Given the description of an element on the screen output the (x, y) to click on. 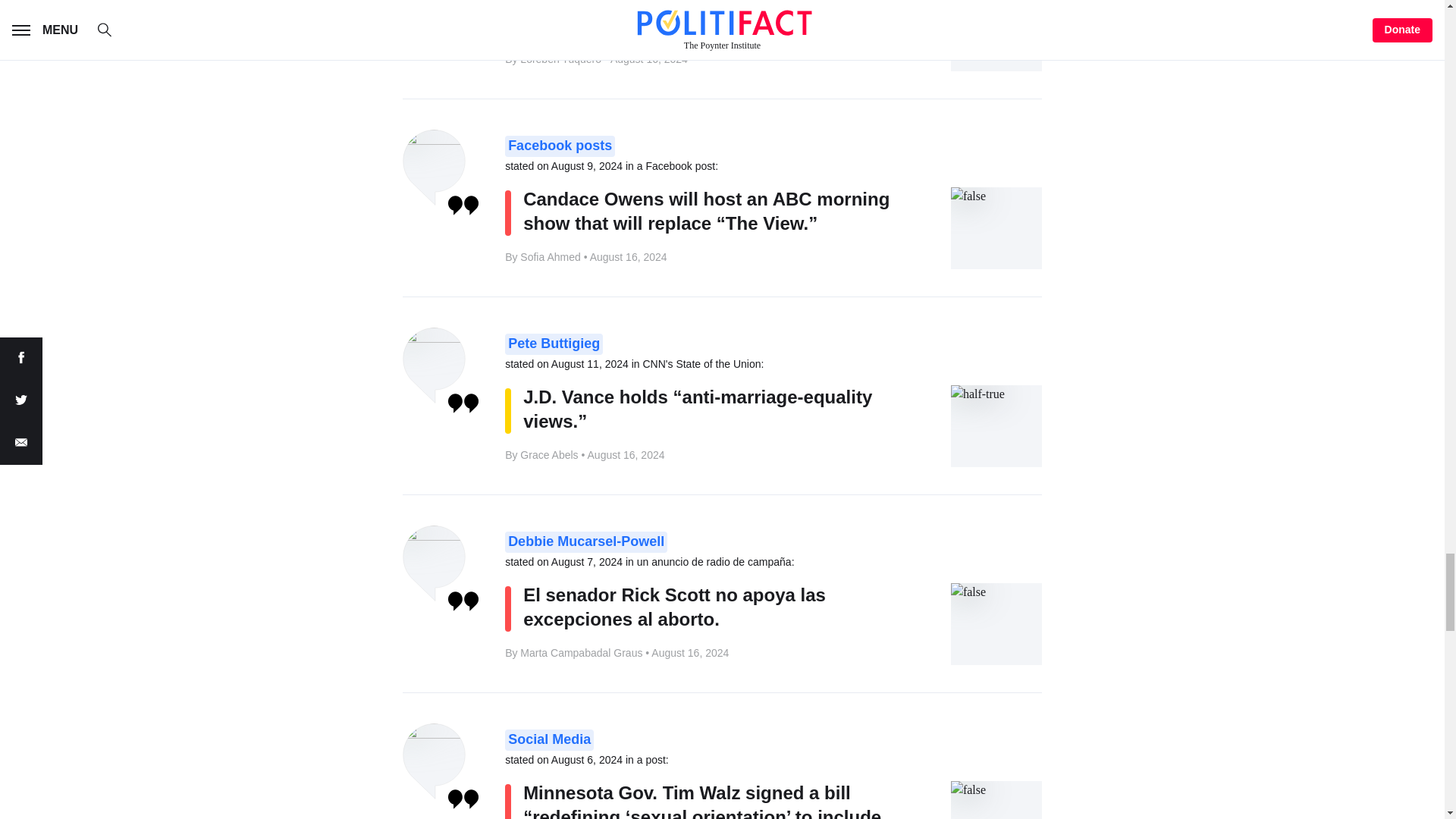
Debbie Mucarsel-Powell (585, 541)
Pete Buttigieg (553, 343)
Facebook posts (559, 146)
